Given the description of an element on the screen output the (x, y) to click on. 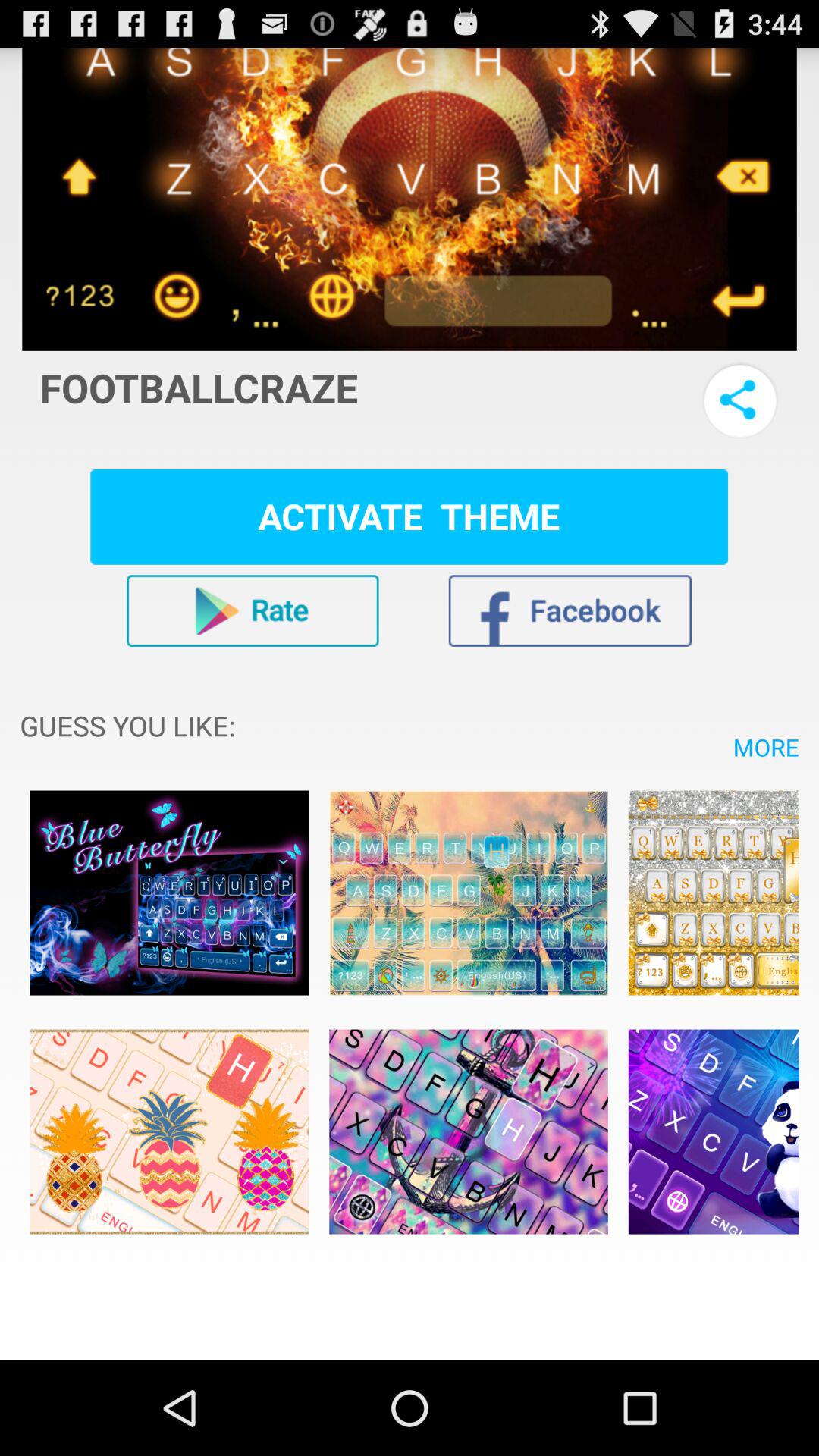
go to facebook (569, 610)
